Given the description of an element on the screen output the (x, y) to click on. 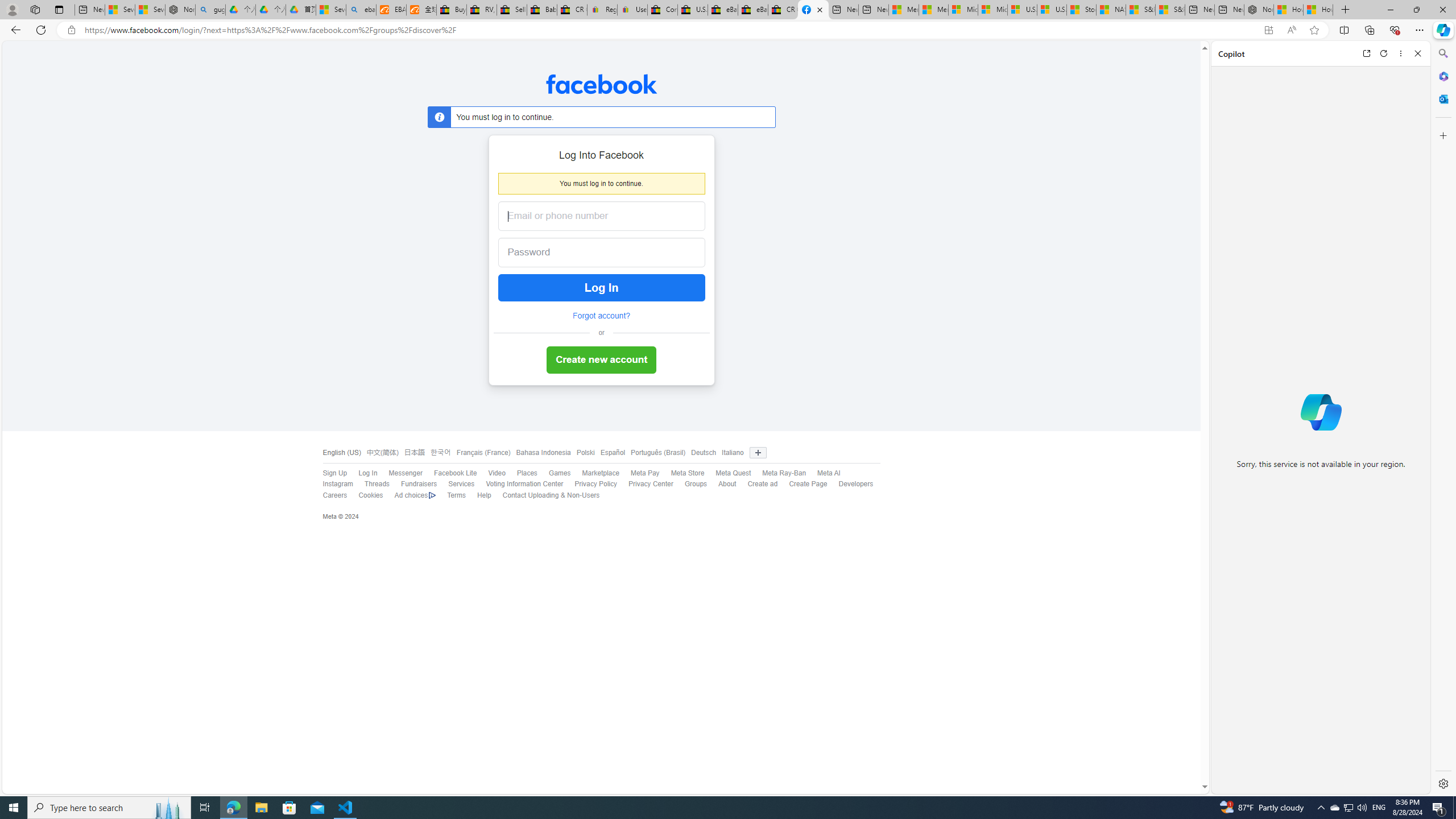
Settings (1442, 783)
Forgot account? (601, 316)
Threads (377, 483)
Microsoft 365 (1442, 76)
RV, Trailer & Camper Steps & Ladders for sale | eBay (481, 9)
Video (490, 473)
Instagram (337, 483)
English (US) (341, 452)
